Given the description of an element on the screen output the (x, y) to click on. 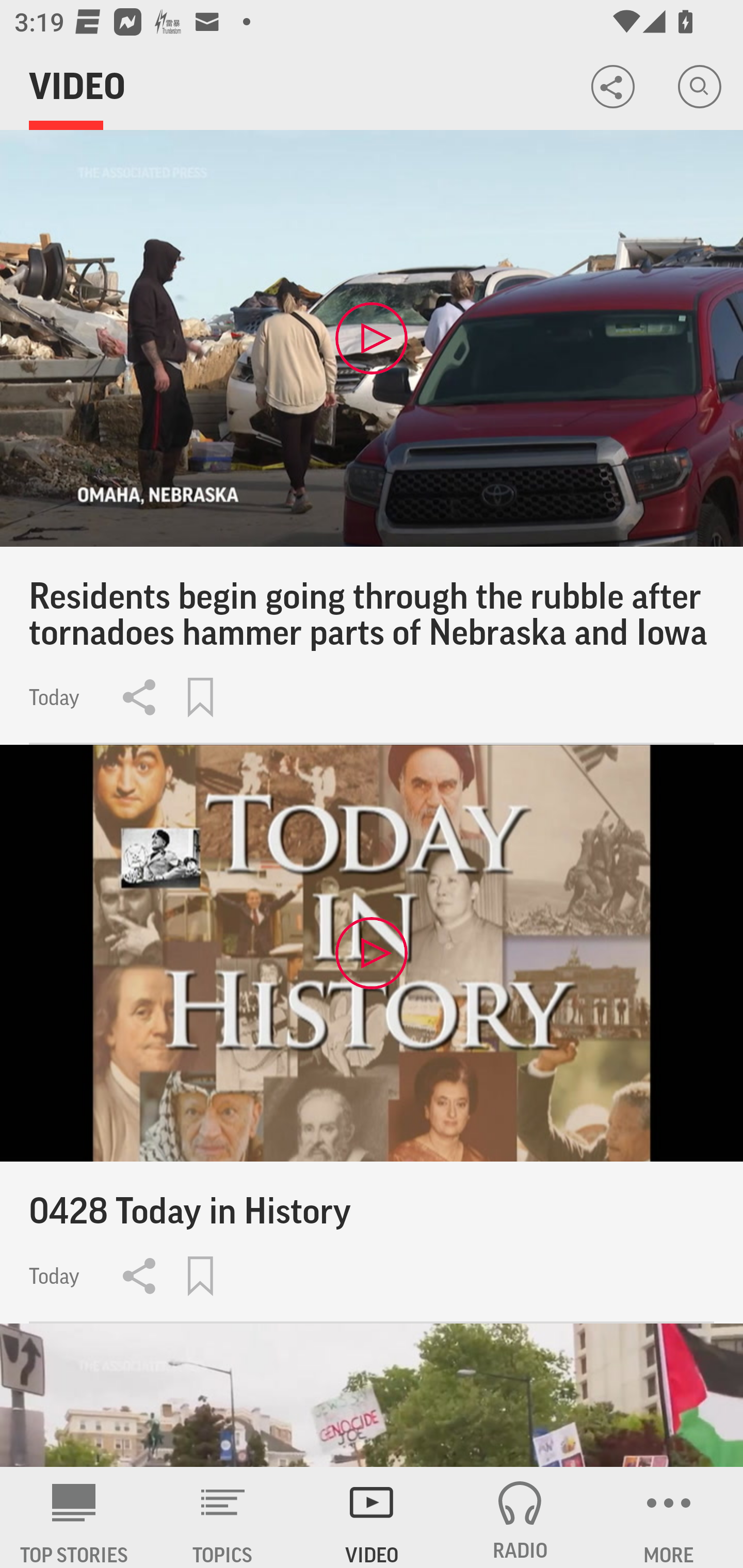
0428 Today in History Today (371, 1033)
AP News TOP STORIES (74, 1517)
TOPICS (222, 1517)
VIDEO (371, 1517)
RADIO (519, 1517)
MORE (668, 1517)
